Given the description of an element on the screen output the (x, y) to click on. 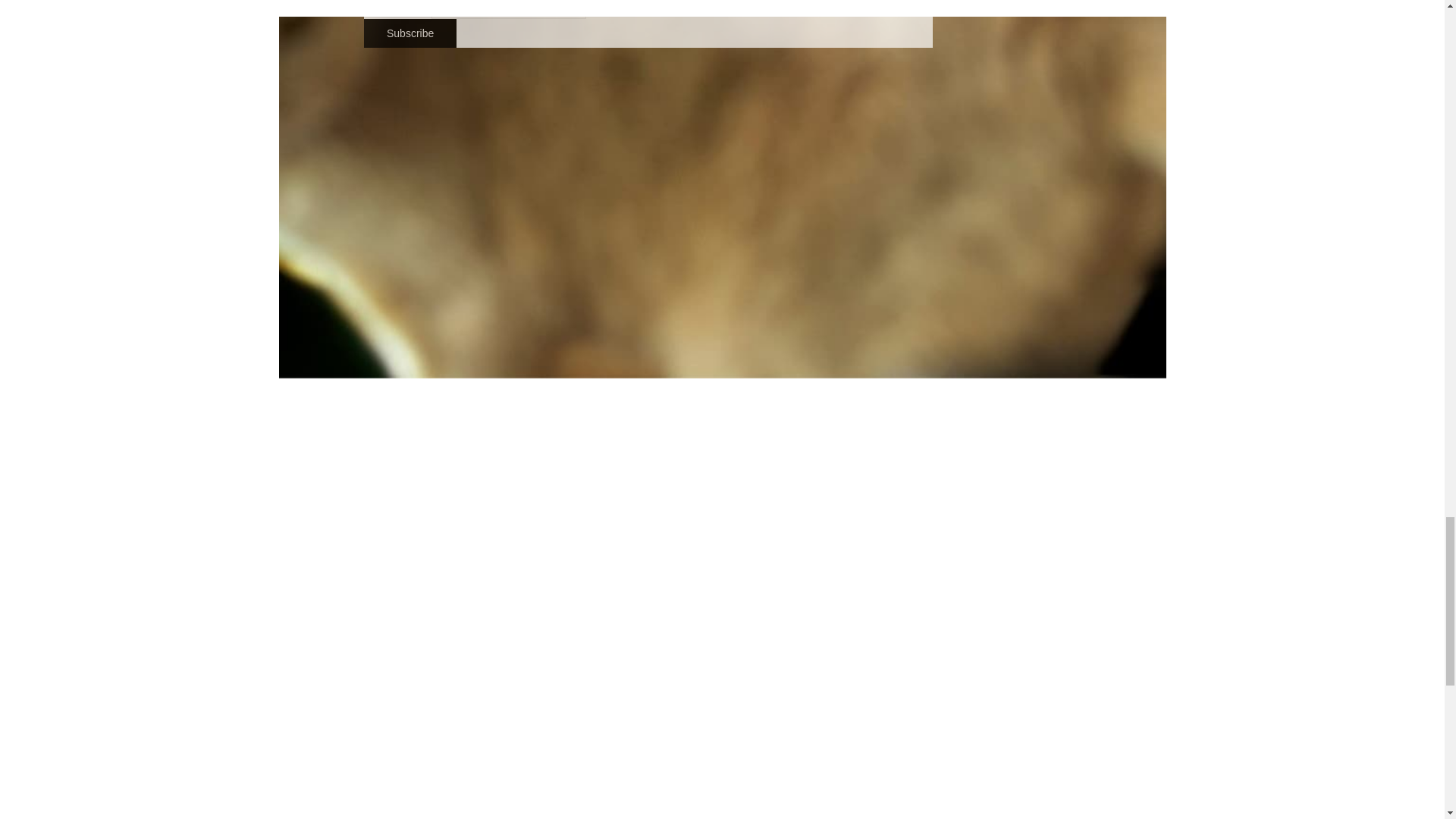
Subscribe (410, 32)
Subscribe (410, 32)
